Given the description of an element on the screen output the (x, y) to click on. 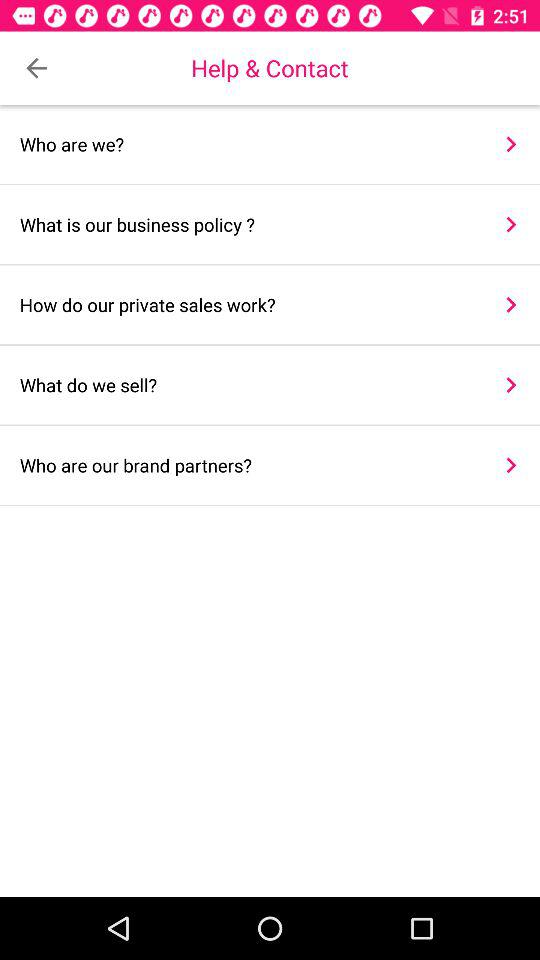
click the icon above the who are our item (247, 384)
